Given the description of an element on the screen output the (x, y) to click on. 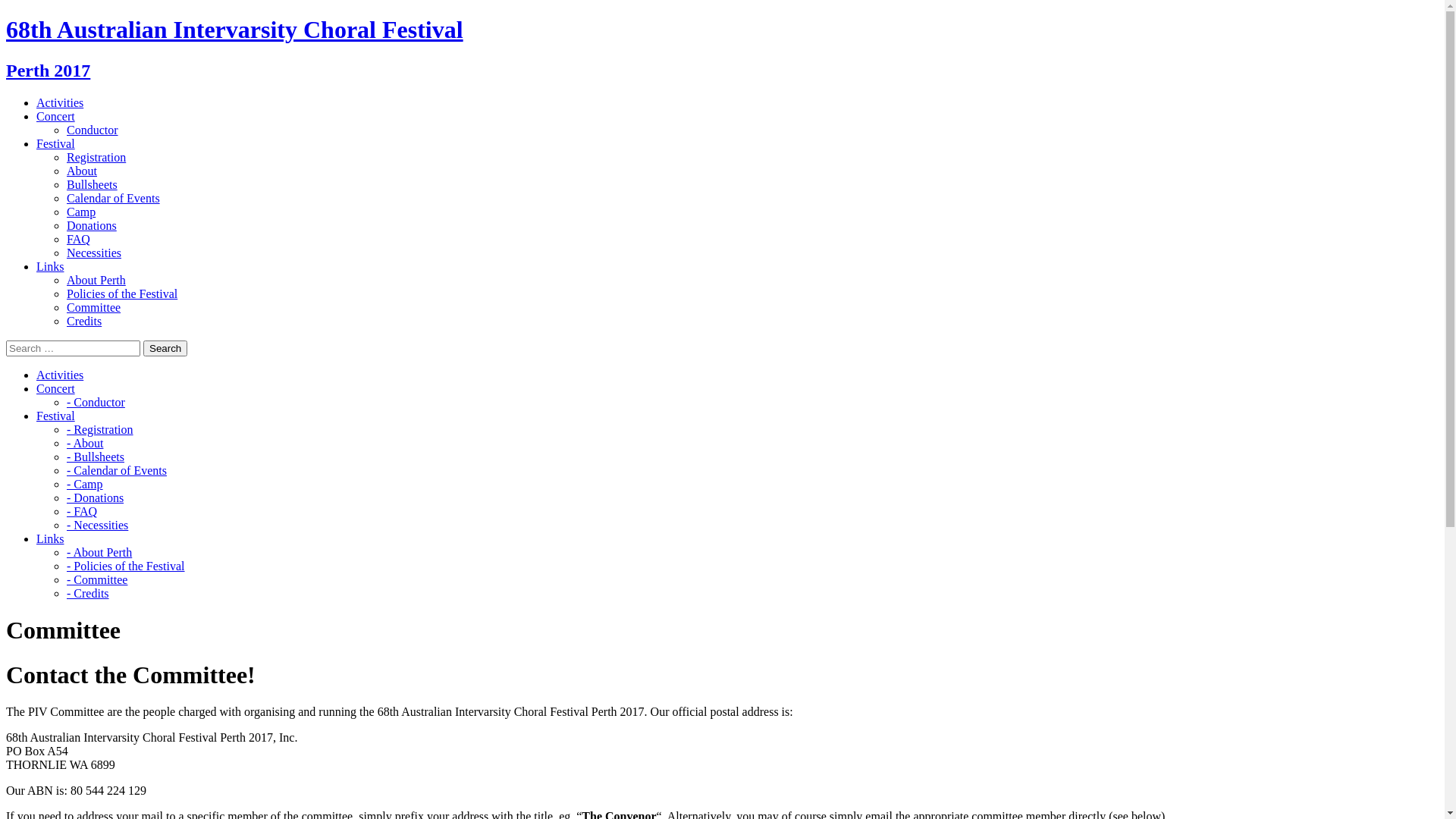
About Perth Element type: text (95, 279)
Registration Element type: text (95, 156)
- Committee Element type: text (96, 579)
Concert Element type: text (55, 115)
- Calendar of Events Element type: text (116, 470)
68th Australian Intervarsity Choral Festival
Perth 2017 Element type: text (722, 47)
- Bullsheets Element type: text (95, 456)
Necessities Element type: text (93, 252)
- Policies of the Festival Element type: text (125, 565)
Camp Element type: text (80, 211)
- Conductor Element type: text (95, 401)
About Element type: text (81, 170)
Festival Element type: text (55, 415)
Bullsheets Element type: text (91, 184)
Credits Element type: text (83, 320)
Policies of the Festival Element type: text (121, 293)
Links Element type: text (49, 538)
Festival Element type: text (55, 143)
Search Element type: text (165, 348)
- About Perth Element type: text (98, 552)
- Necessities Element type: text (97, 524)
Activities Element type: text (59, 102)
Committee Element type: text (93, 307)
- FAQ Element type: text (81, 511)
- About Element type: text (84, 442)
Activities Element type: text (59, 374)
Conductor Element type: text (92, 129)
- Registration Element type: text (99, 429)
Calendar of Events Element type: text (113, 197)
- Credits Element type: text (87, 592)
FAQ Element type: text (78, 238)
- Donations Element type: text (94, 497)
Donations Element type: text (91, 225)
Links Element type: text (49, 266)
Concert Element type: text (55, 388)
- Camp Element type: text (84, 483)
